Given the description of an element on the screen output the (x, y) to click on. 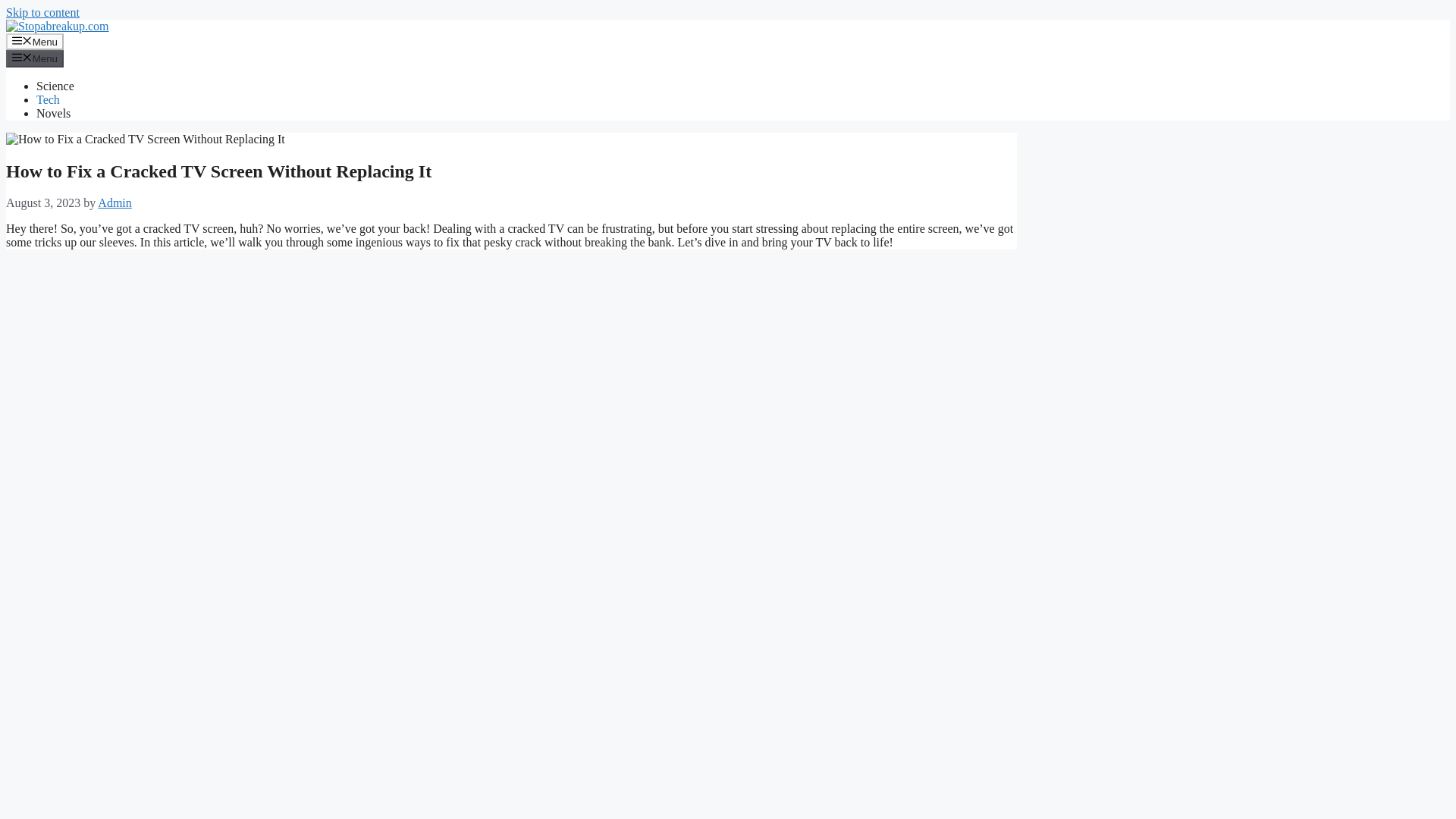
Tech (47, 99)
Skip to content (42, 11)
Menu (34, 57)
Admin (114, 202)
View all posts by Admin (114, 202)
Menu (34, 41)
Science (55, 85)
Skip to content (42, 11)
Novels (52, 113)
